Given the description of an element on the screen output the (x, y) to click on. 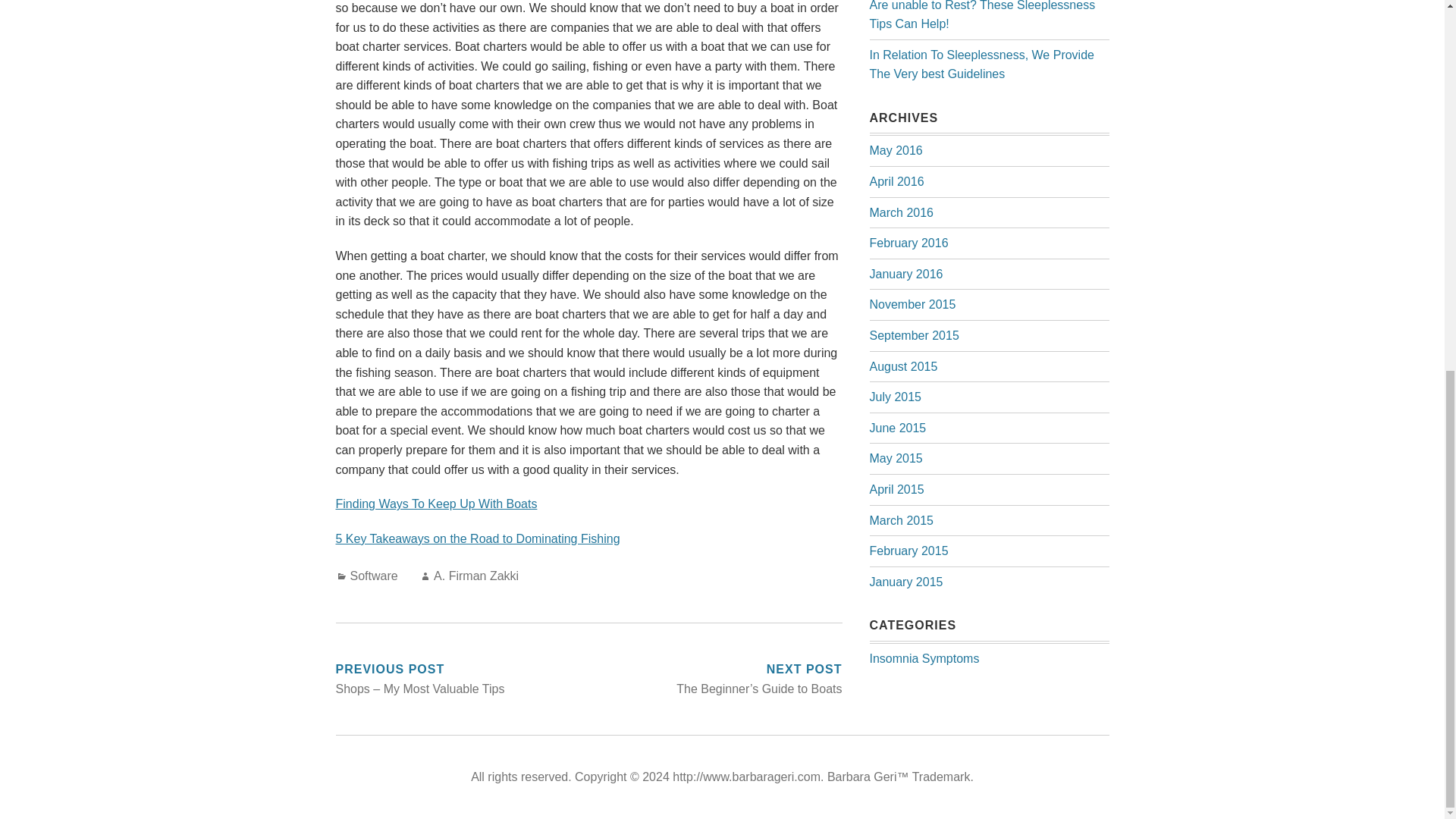
July 2015 (895, 396)
Insomnia Symptoms (923, 658)
May 2016 (895, 150)
June 2015 (897, 427)
March 2016 (901, 212)
January 2016 (905, 273)
Finding Ways To Keep Up With Boats (435, 503)
February 2015 (908, 550)
January 2015 (905, 581)
